Given the description of an element on the screen output the (x, y) to click on. 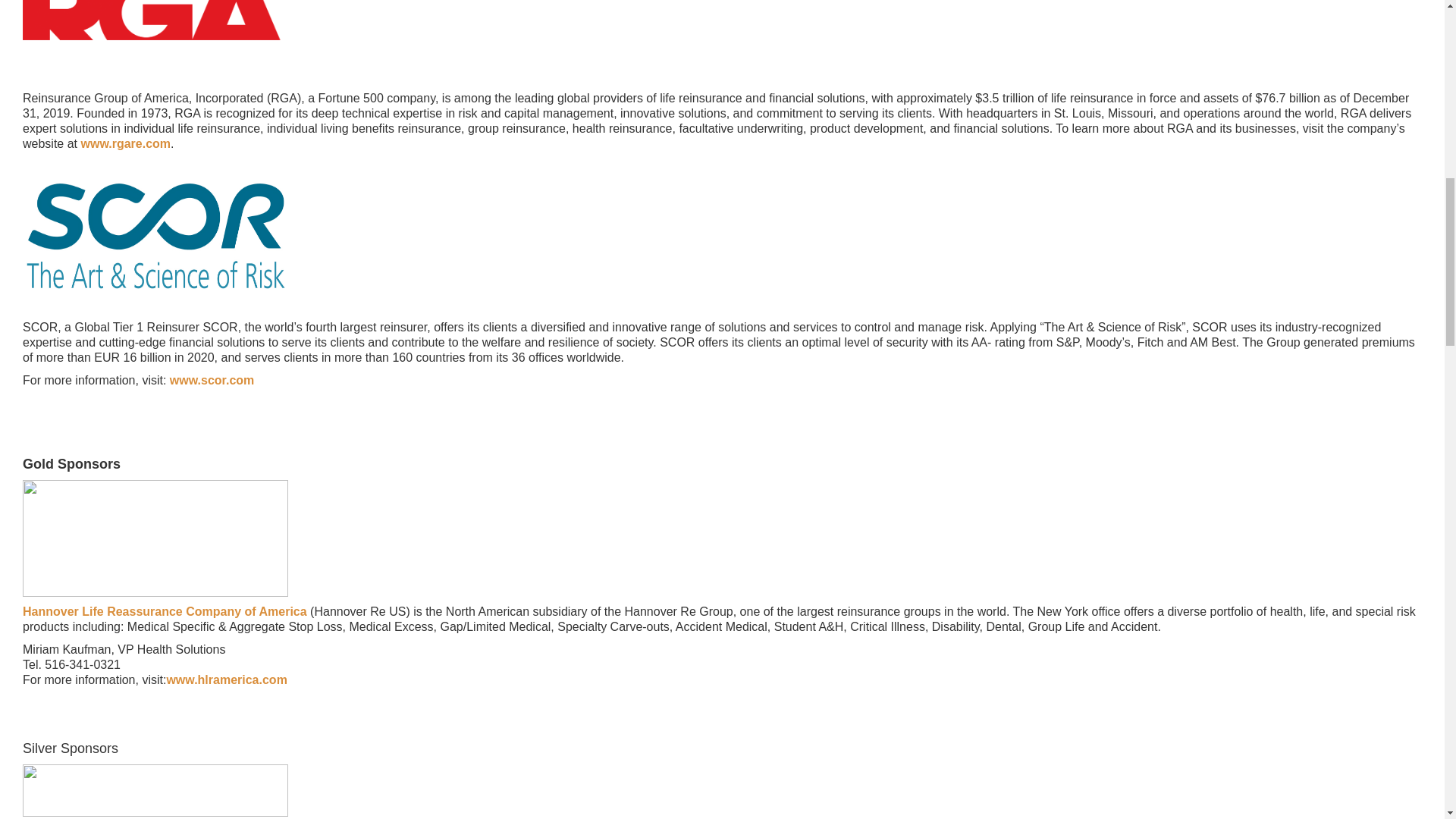
www.scor.com (211, 379)
www.rgare.com (125, 143)
